Given the description of an element on the screen output the (x, y) to click on. 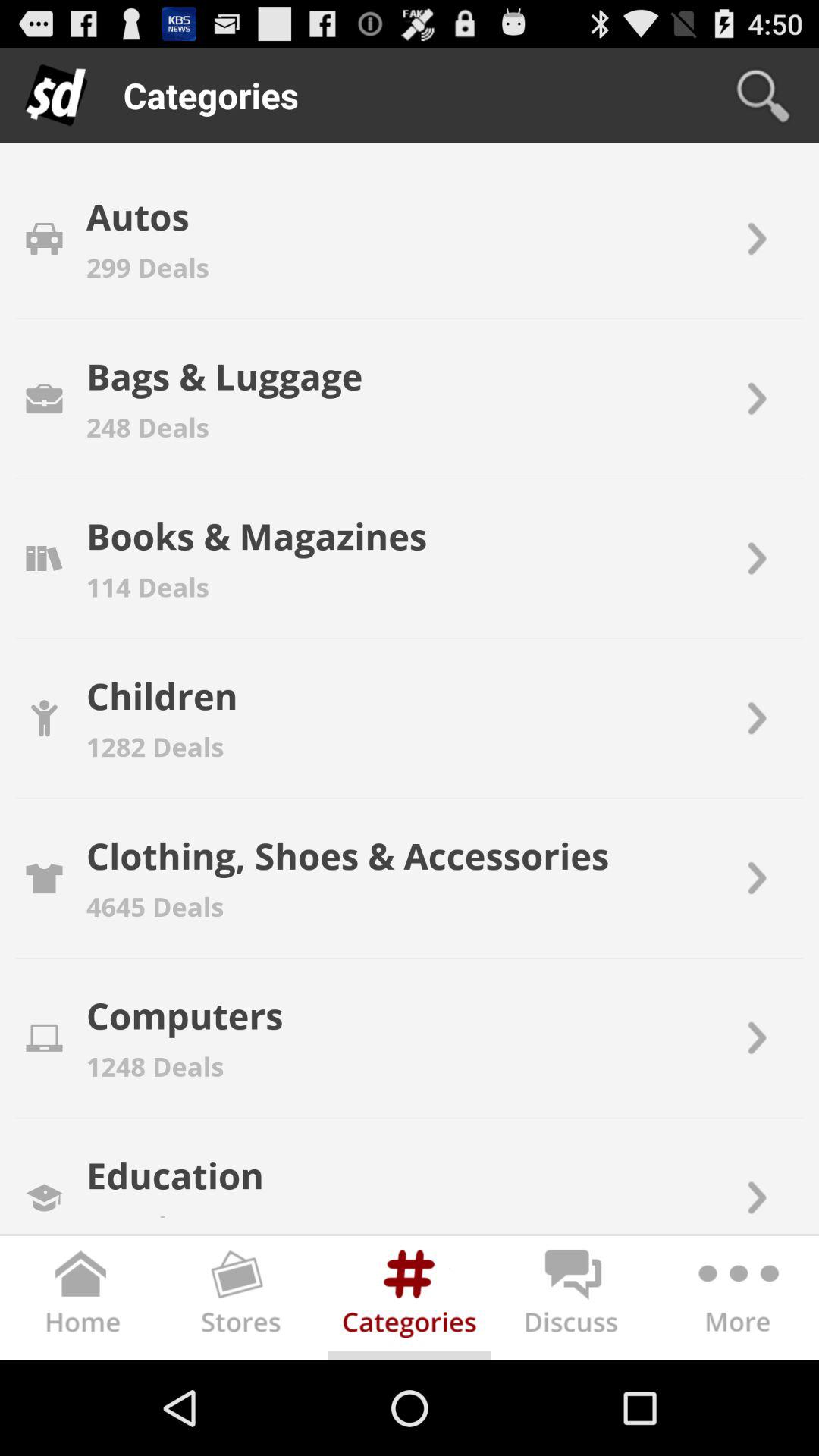
click 248 deals app (147, 426)
